Given the description of an element on the screen output the (x, y) to click on. 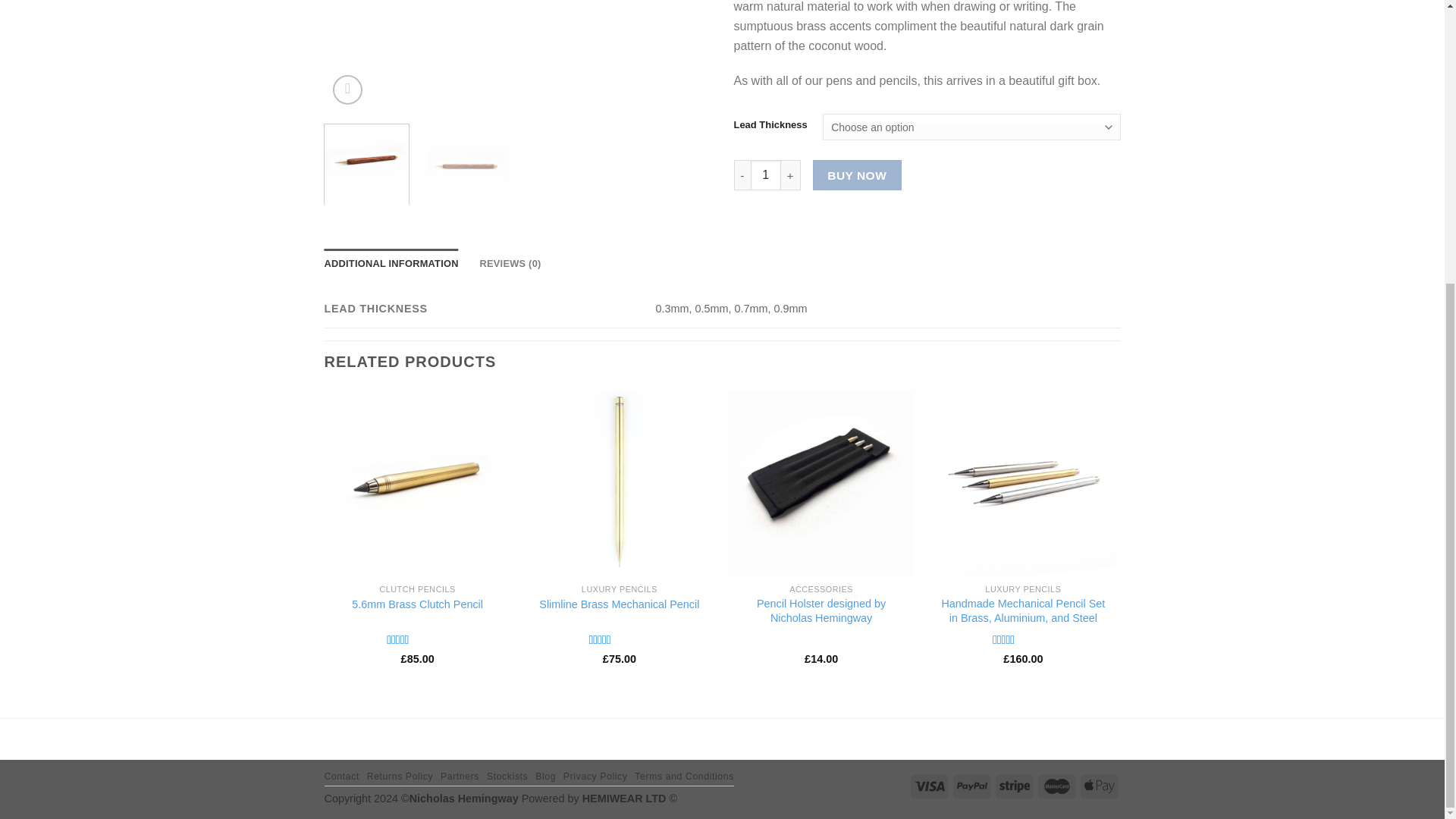
1 (765, 174)
BUY NOW (856, 174)
Zoom (347, 89)
